Given the description of an element on the screen output the (x, y) to click on. 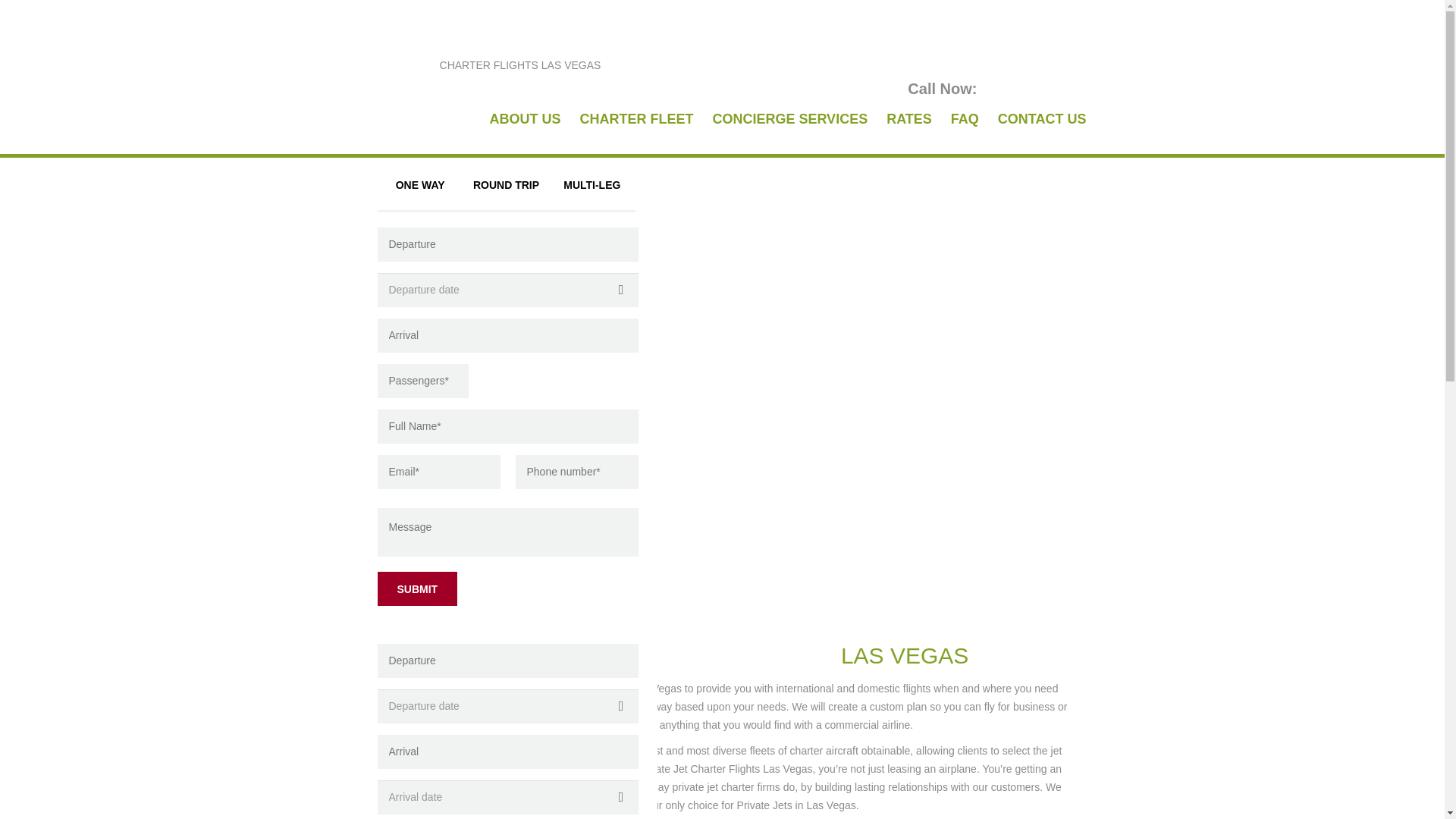
FAQ (964, 118)
Submit (417, 588)
ONE WAY (420, 185)
1.702.441.0705 (1032, 88)
PRIVATE JET (478, 52)
Submit (478, 52)
RATES (417, 588)
CONTACT US (908, 118)
CONCIERGE SERVICES (1041, 118)
CHARTER FLEET (789, 118)
ROUND TRIP (636, 118)
MULTI-LEG (505, 185)
ABOUT US (591, 185)
